Given the description of an element on the screen output the (x, y) to click on. 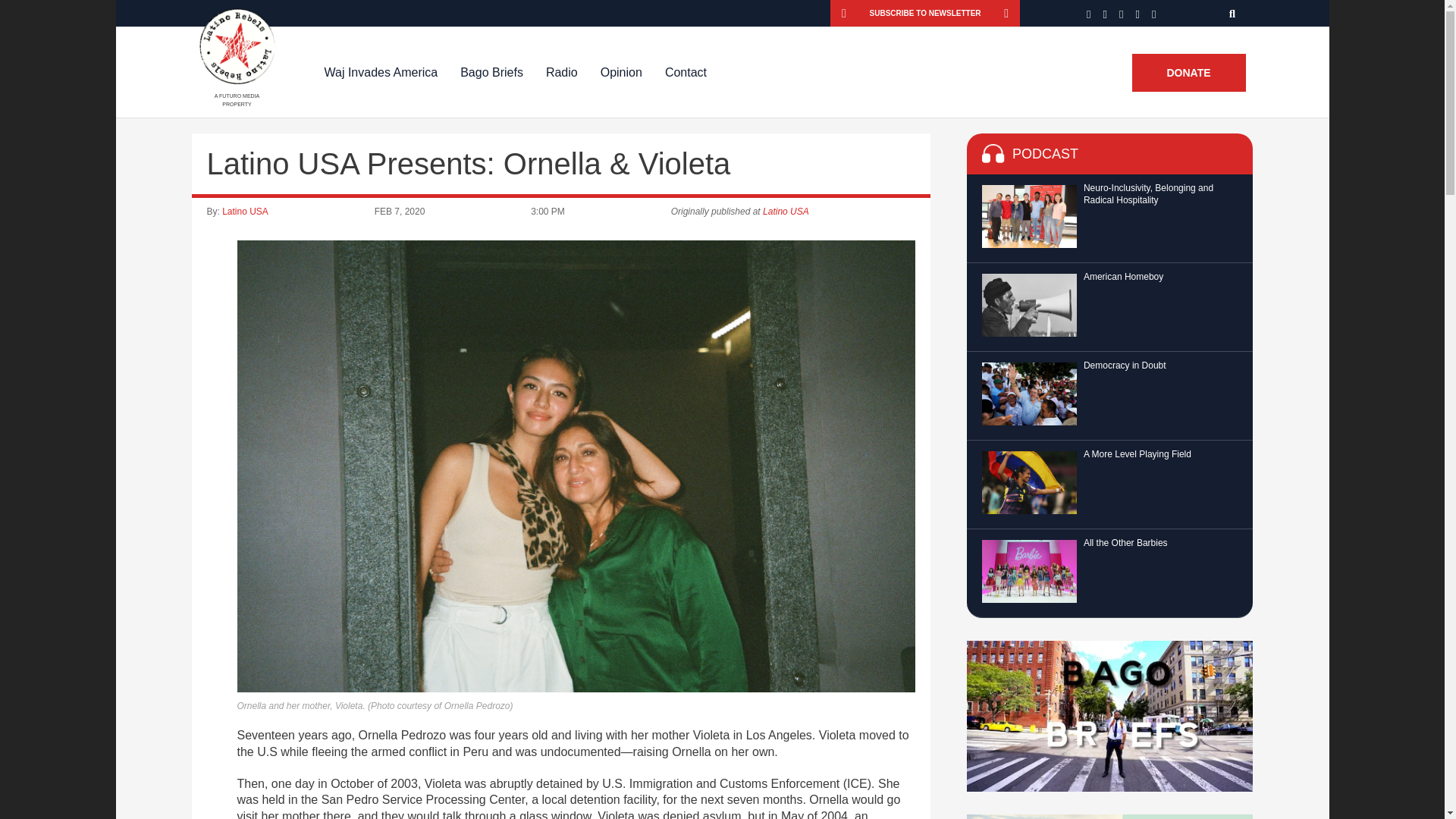
Search (1233, 13)
Latino USA (785, 211)
Waj Invades America (380, 72)
Latino USA (244, 211)
Subscribe to newsletter (924, 13)
Posts by Latino USA (244, 211)
Search (1233, 13)
DONATE (1187, 72)
Bago Briefs (491, 72)
Search (1233, 13)
